Given the description of an element on the screen output the (x, y) to click on. 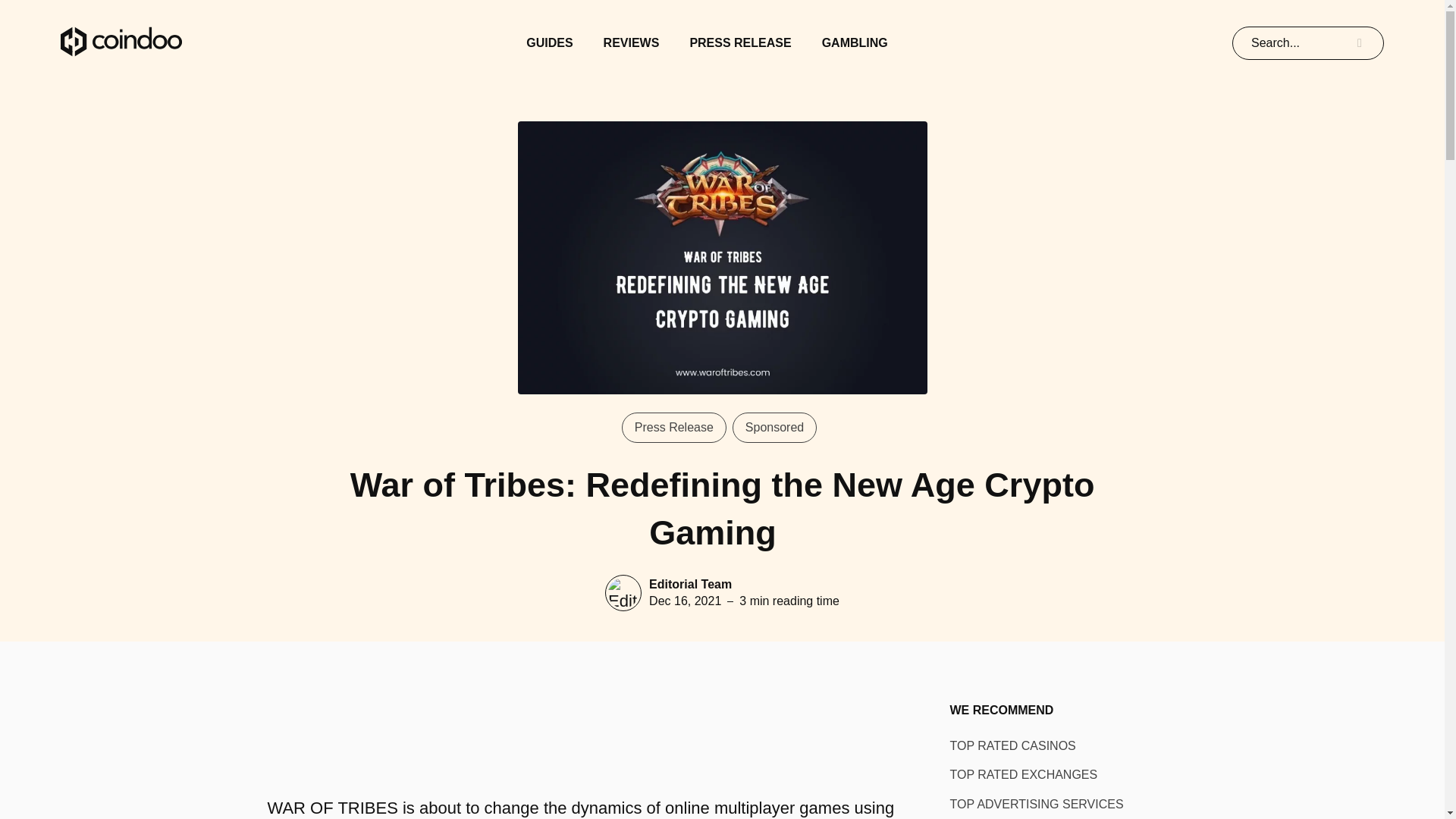
Coindoo (121, 42)
PRESS RELEASE (739, 42)
GAMBLING (855, 42)
REVIEWS (631, 42)
Press Release (673, 427)
Sponsored (774, 427)
Editorial Team (690, 584)
GUIDES (548, 42)
